Given the description of an element on the screen output the (x, y) to click on. 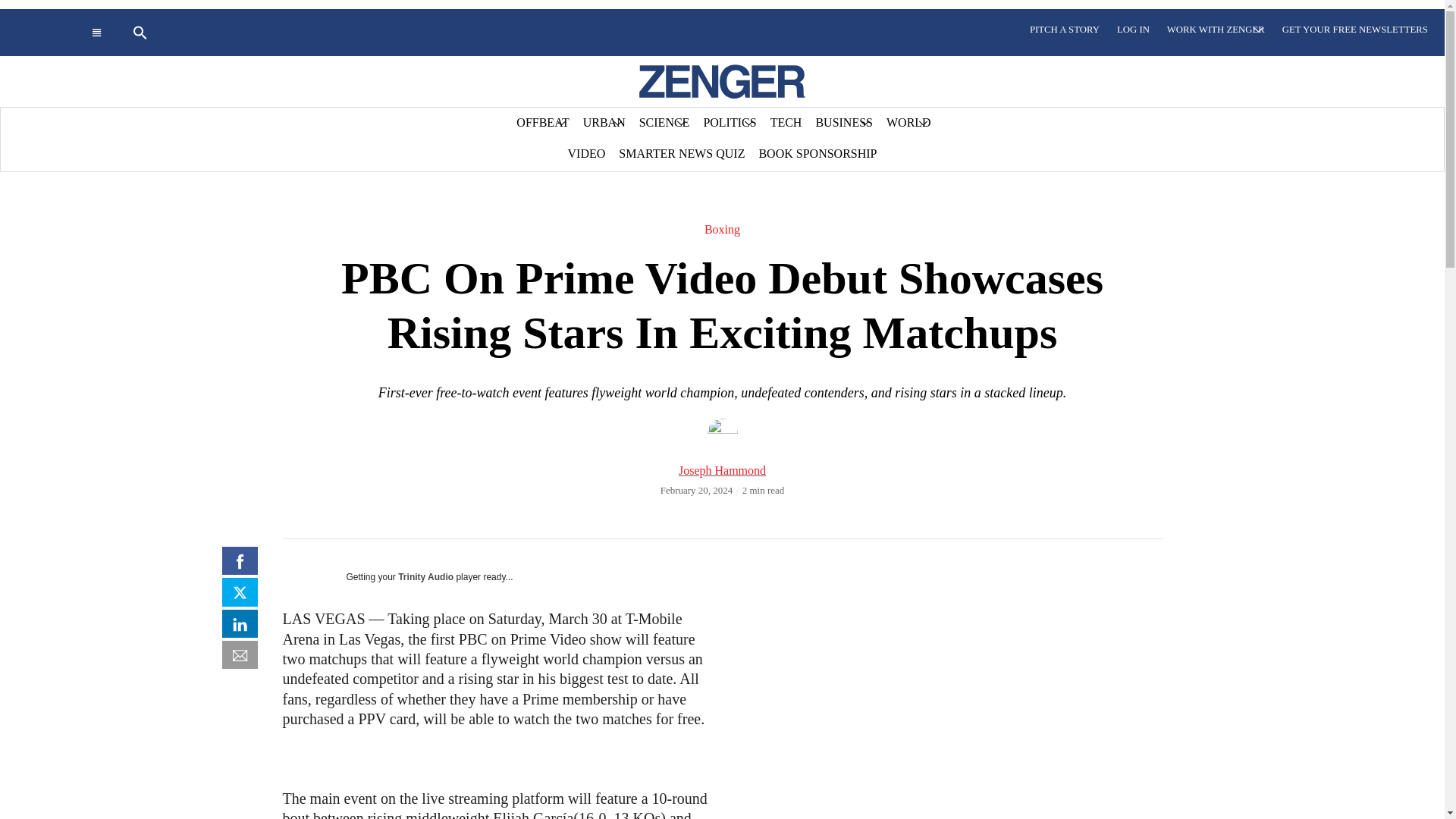
Zenger-Logo2023 (722, 81)
SCIENCE (664, 122)
OFFBEAT (542, 122)
BUSINESS (843, 122)
WORK WITH ZENGER (1215, 29)
WORLD (908, 122)
TECH (785, 122)
LOG IN (1132, 29)
